Given the description of an element on the screen output the (x, y) to click on. 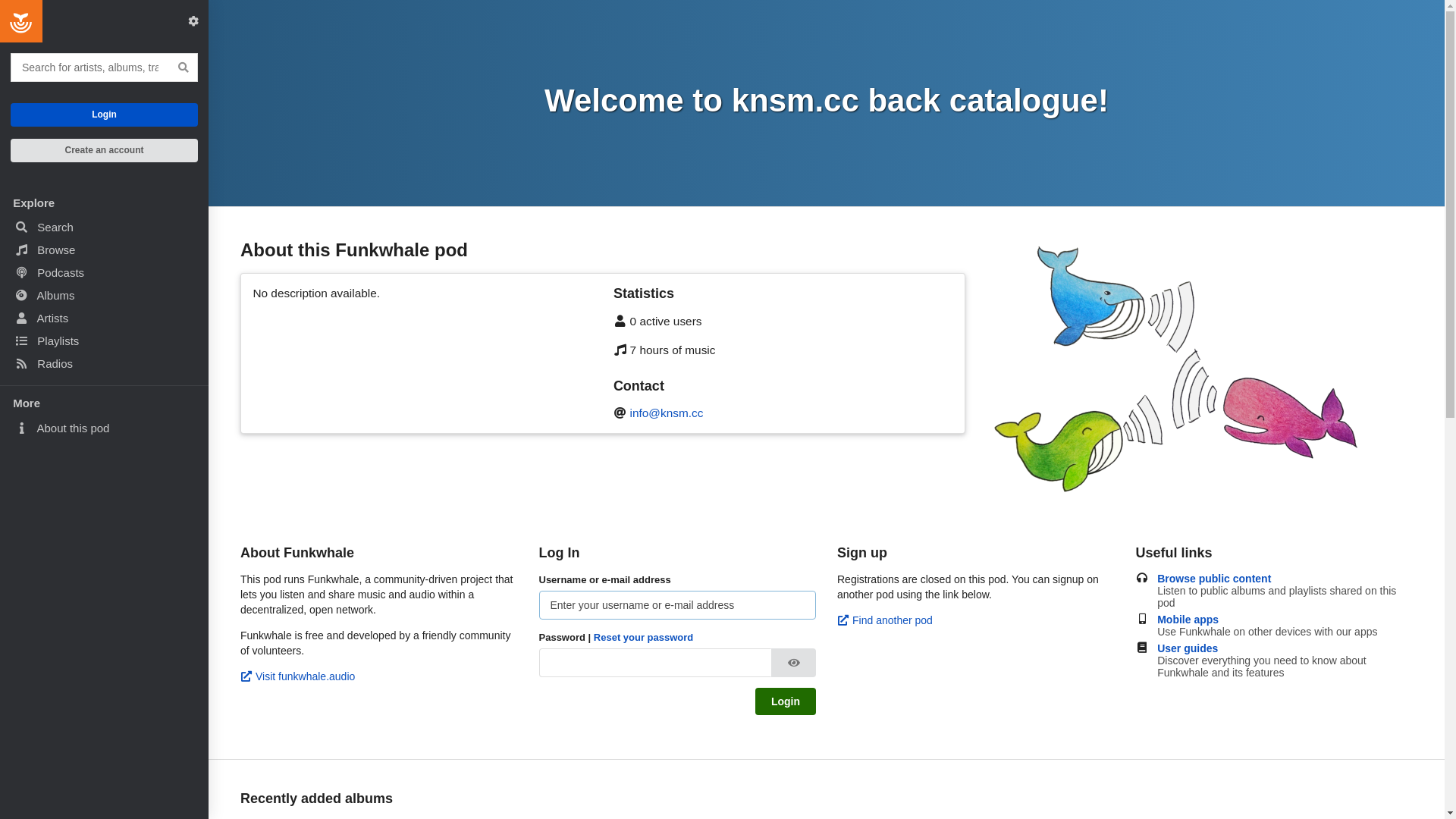
Find another pod Element type: text (884, 620)
Artists Element type: text (104, 317)
Search Element type: text (104, 226)
Reset your password Element type: text (643, 637)
Podcasts Element type: text (104, 271)
User guides Element type: text (1284, 648)
Radios Element type: text (104, 362)
About this pod Element type: text (104, 427)
Create an account Element type: text (103, 150)
Login Element type: text (103, 114)
Browse Element type: text (104, 249)
info@knsm.cc Element type: text (666, 412)
Browse public content Element type: text (1284, 578)
Show/hide password Element type: hover (793, 662)
Home Element type: text (21, 21)
Playlists Element type: text (104, 340)
Login Element type: text (785, 701)
Albums Element type: text (104, 294)
Mobile apps Element type: text (1284, 619)
Visit funkwhale.audio Element type: text (297, 676)
